Given the description of an element on the screen output the (x, y) to click on. 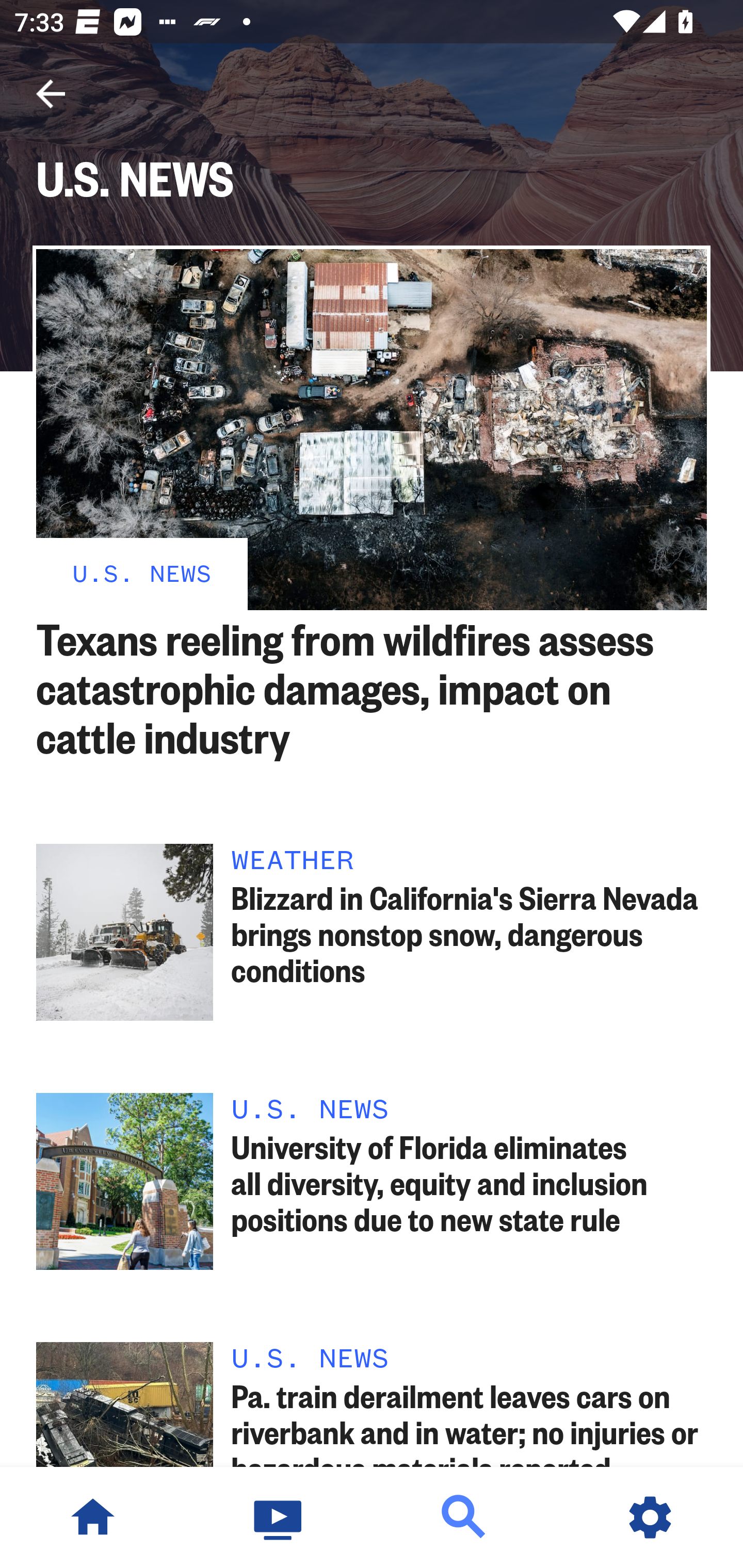
Navigate up (50, 93)
NBC News Home (92, 1517)
Watch (278, 1517)
Settings (650, 1517)
